Given the description of an element on the screen output the (x, y) to click on. 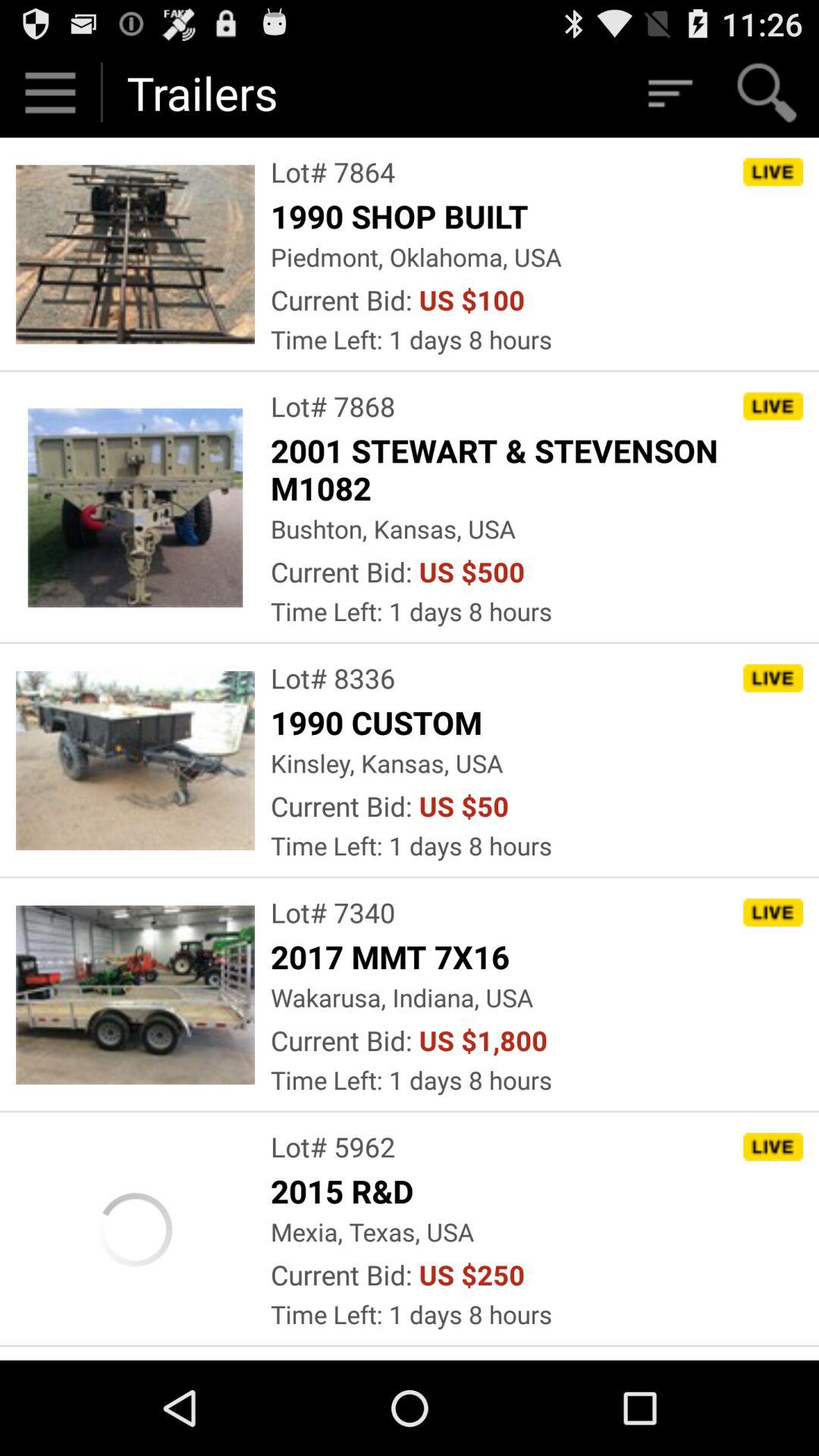
choose the app next to the current bid: (483, 1040)
